Given the description of an element on the screen output the (x, y) to click on. 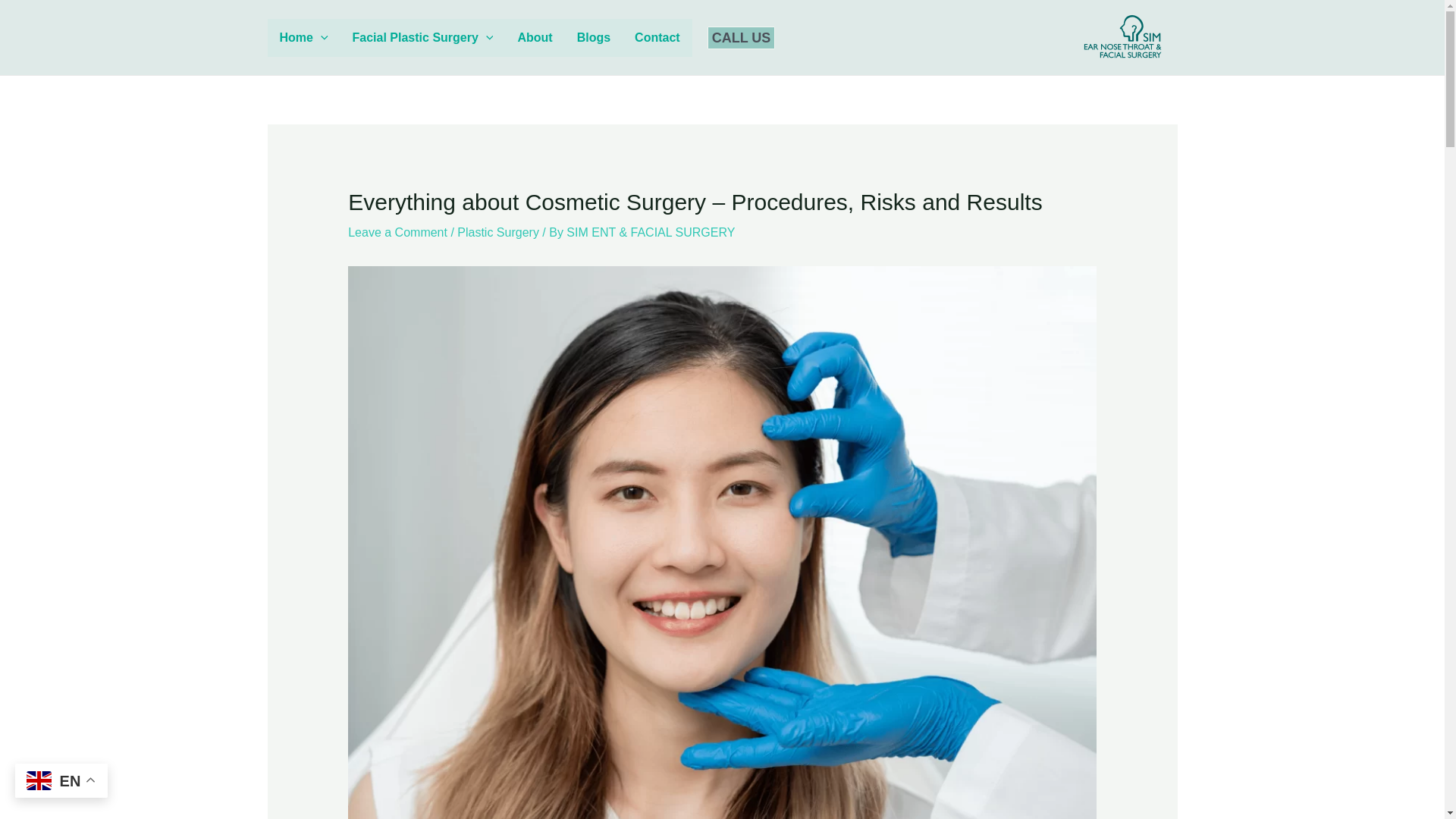
About (534, 37)
CALL US (741, 36)
Contact (658, 37)
Blogs (593, 37)
Home (302, 37)
Facial Plastic Surgery (422, 37)
